Given the description of an element on the screen output the (x, y) to click on. 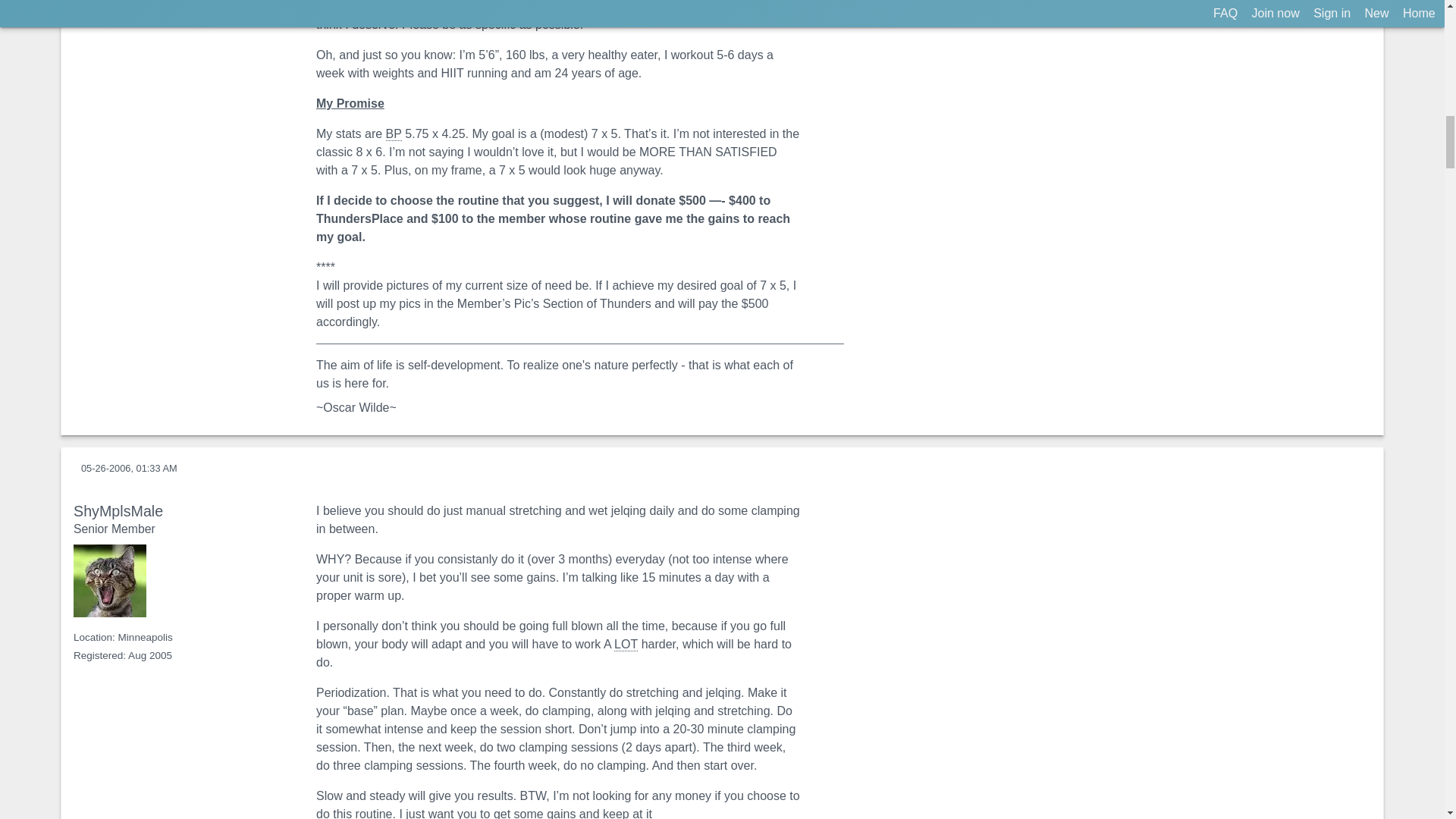
Bone Pressed (393, 133)
Loss Of Tugback (625, 644)
